Given the description of an element on the screen output the (x, y) to click on. 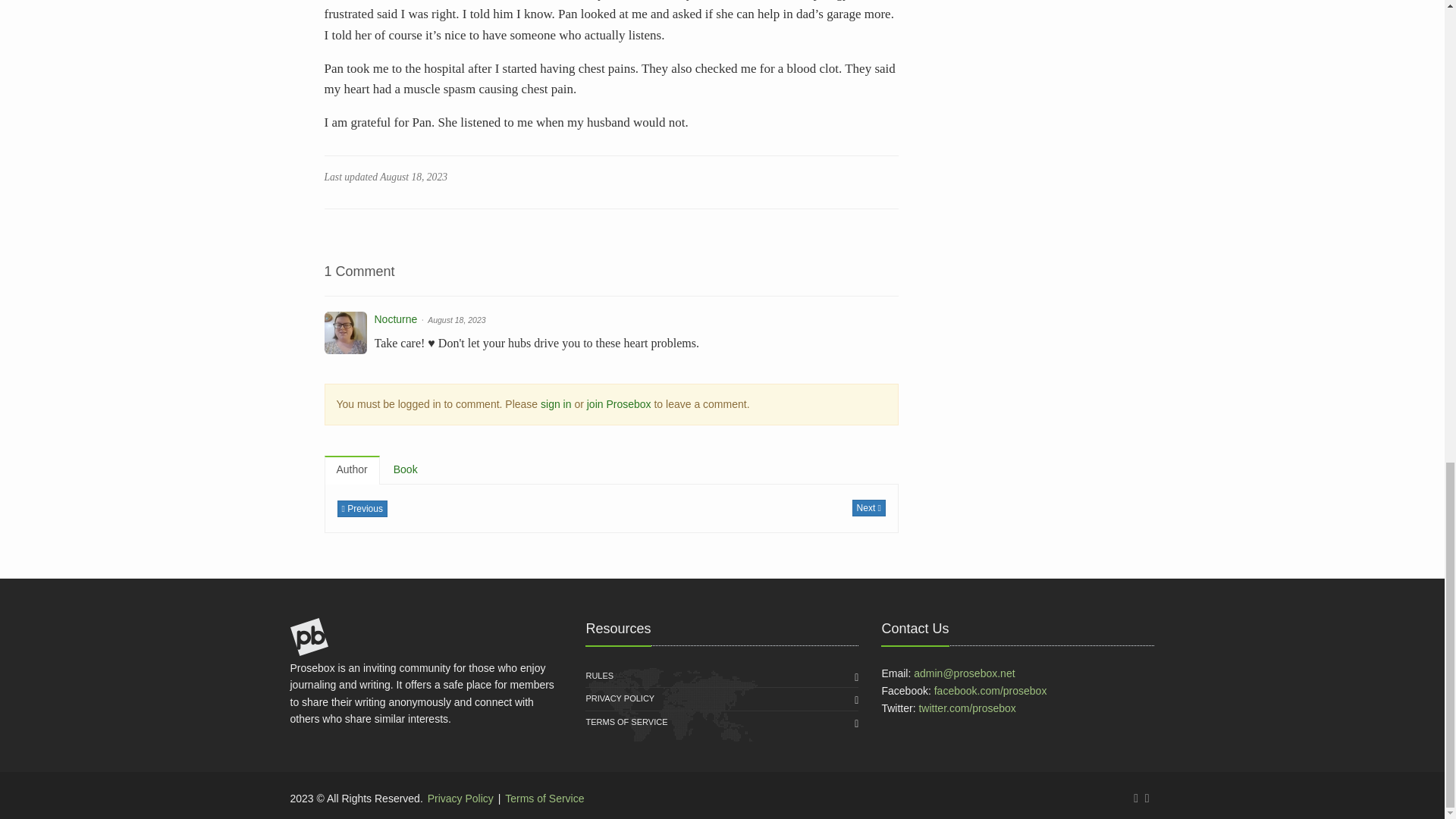
Next (868, 506)
Book (405, 469)
Previous (361, 508)
sign in (555, 404)
TERMS OF SERVICE (625, 722)
RULES (598, 676)
Nocturne (395, 318)
PRIVACY POLICY (619, 698)
join Prosebox (618, 404)
Author (352, 469)
